Given the description of an element on the screen output the (x, y) to click on. 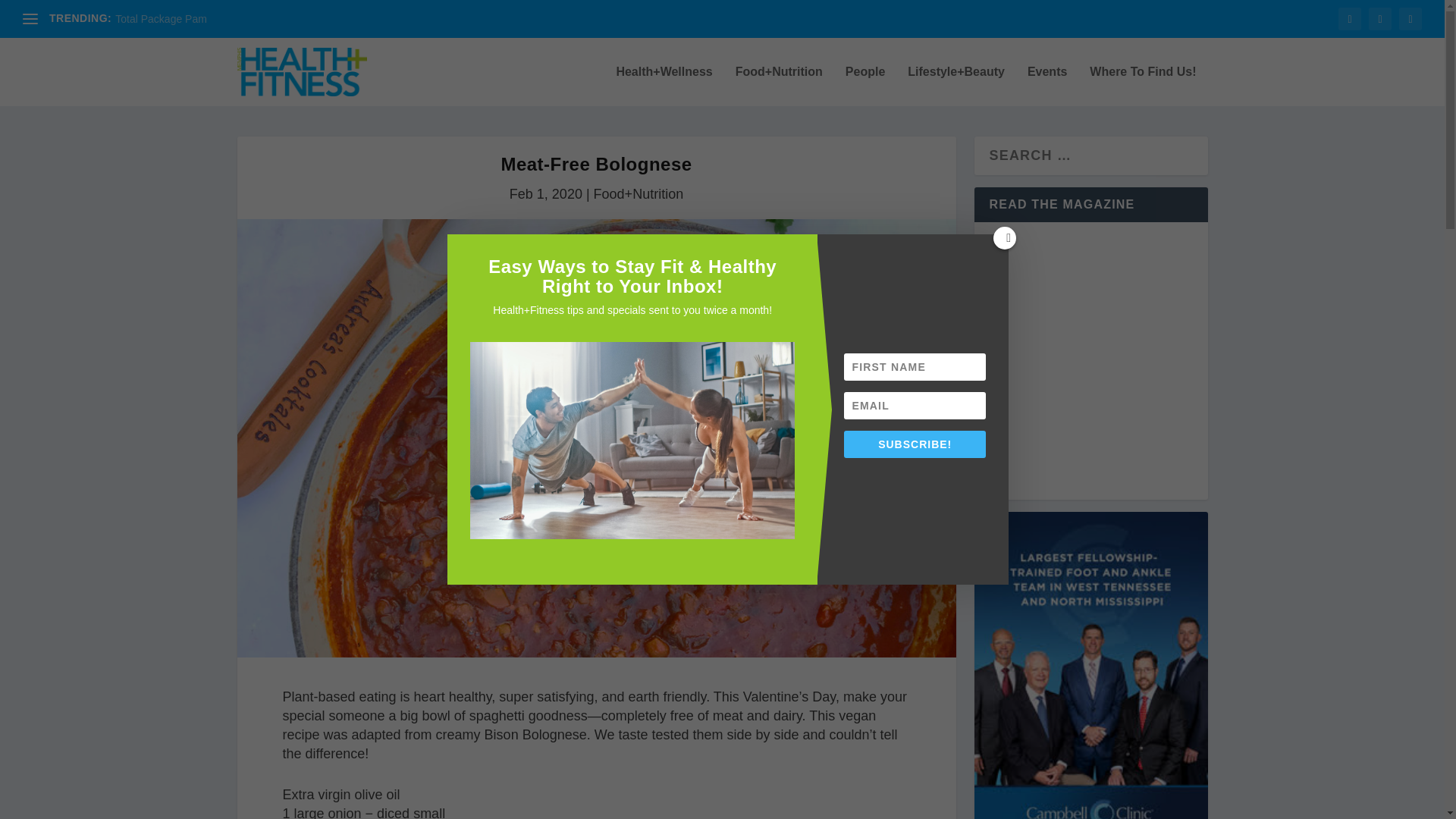
Where To Find Us! (1142, 86)
People (865, 86)
Total Package Pam (160, 19)
Events (1047, 86)
Search (37, 15)
